Given the description of an element on the screen output the (x, y) to click on. 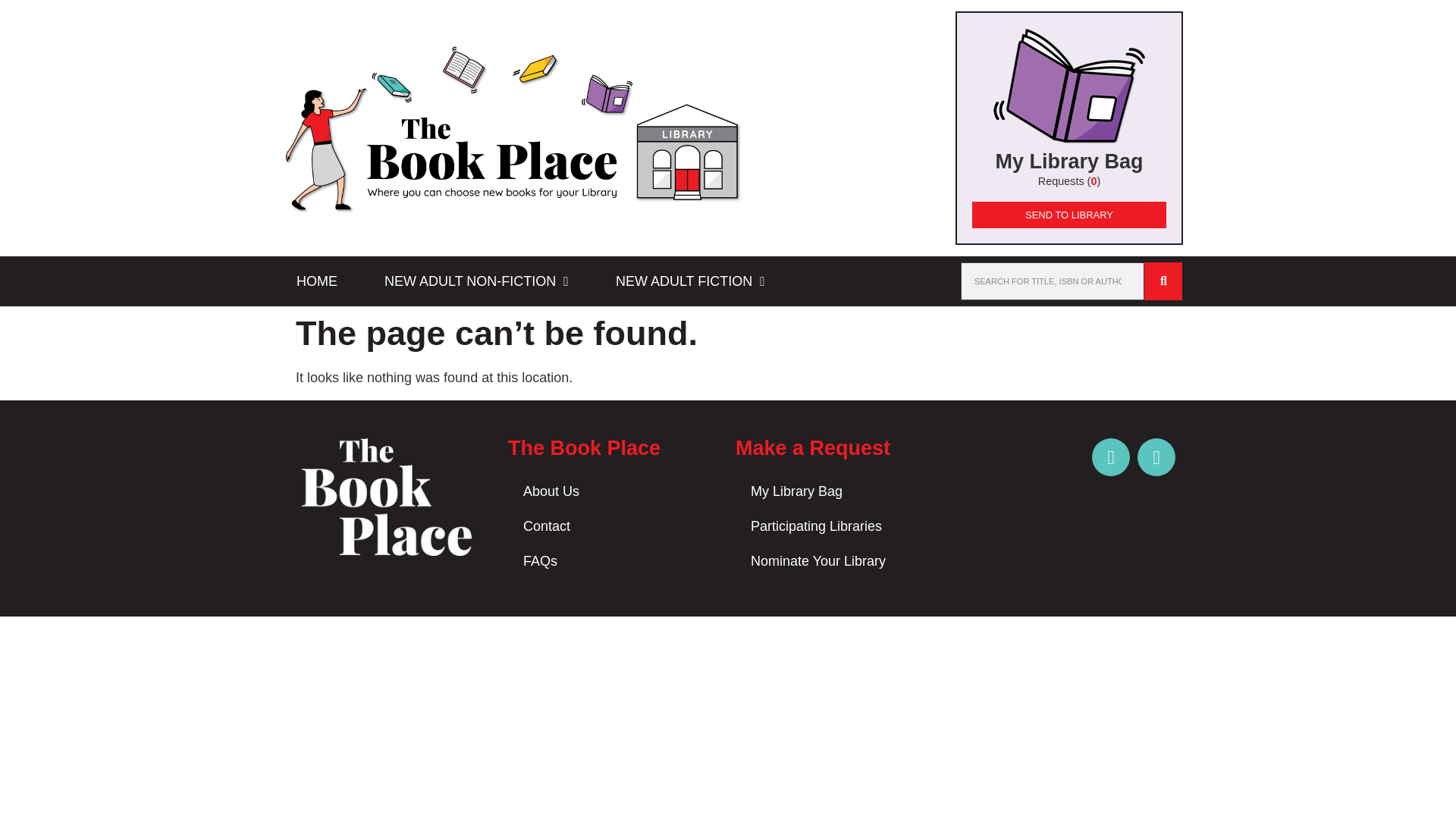
HOME (317, 281)
Search (1052, 281)
NEW ADULT NON-FICTION (476, 281)
Go to bag (1068, 127)
Search (1163, 281)
footer-thebookplace (386, 497)
